Given the description of an element on the screen output the (x, y) to click on. 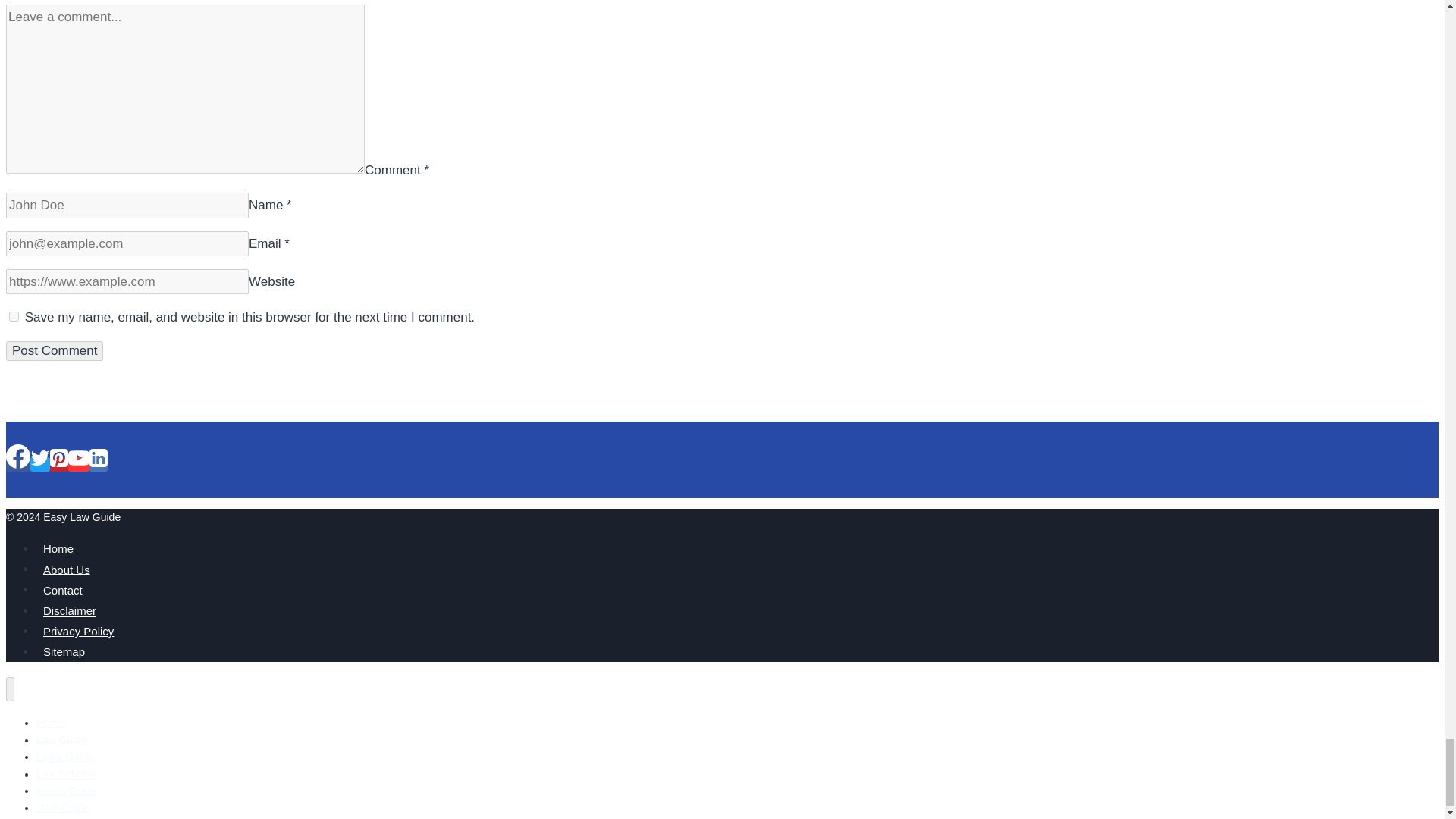
YouTube (78, 457)
yes (13, 316)
Facebook (17, 456)
Post Comment (54, 351)
Twitter (39, 457)
